Given the description of an element on the screen output the (x, y) to click on. 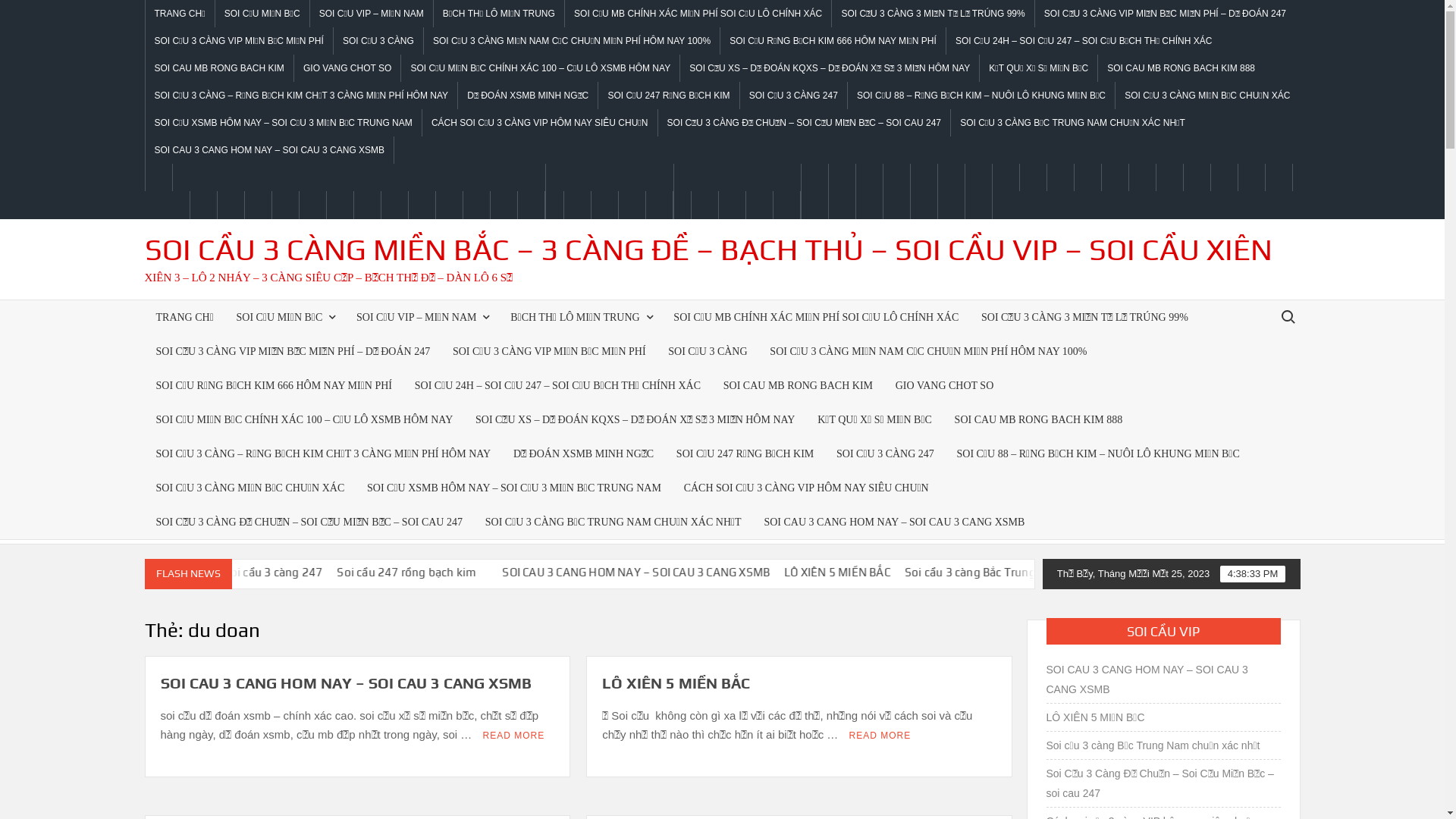
soi cau mb rong bach kim Element type: text (1032, 177)
gio vang chot so Element type: text (1060, 177)
SOI CAU MB RONG BACH KIM Element type: text (219, 67)
SOI CAU MB RONG BACH KIM Element type: text (798, 385)
SOI CAU MB RONG BACH KIM 888 Element type: text (1038, 418)
READ MORE Element type: text (514, 735)
GIO VANG CHOT SO Element type: text (347, 67)
GIO VANG CHOT SO Element type: text (944, 385)
READ MORE Element type: text (880, 735)
SOI CAU MB RONG BACH KIM 888 Element type: text (1181, 67)
Search for: Element type: text (1286, 316)
soi cau mb rong bach kim 888 Element type: text (1169, 177)
